Given the description of an element on the screen output the (x, y) to click on. 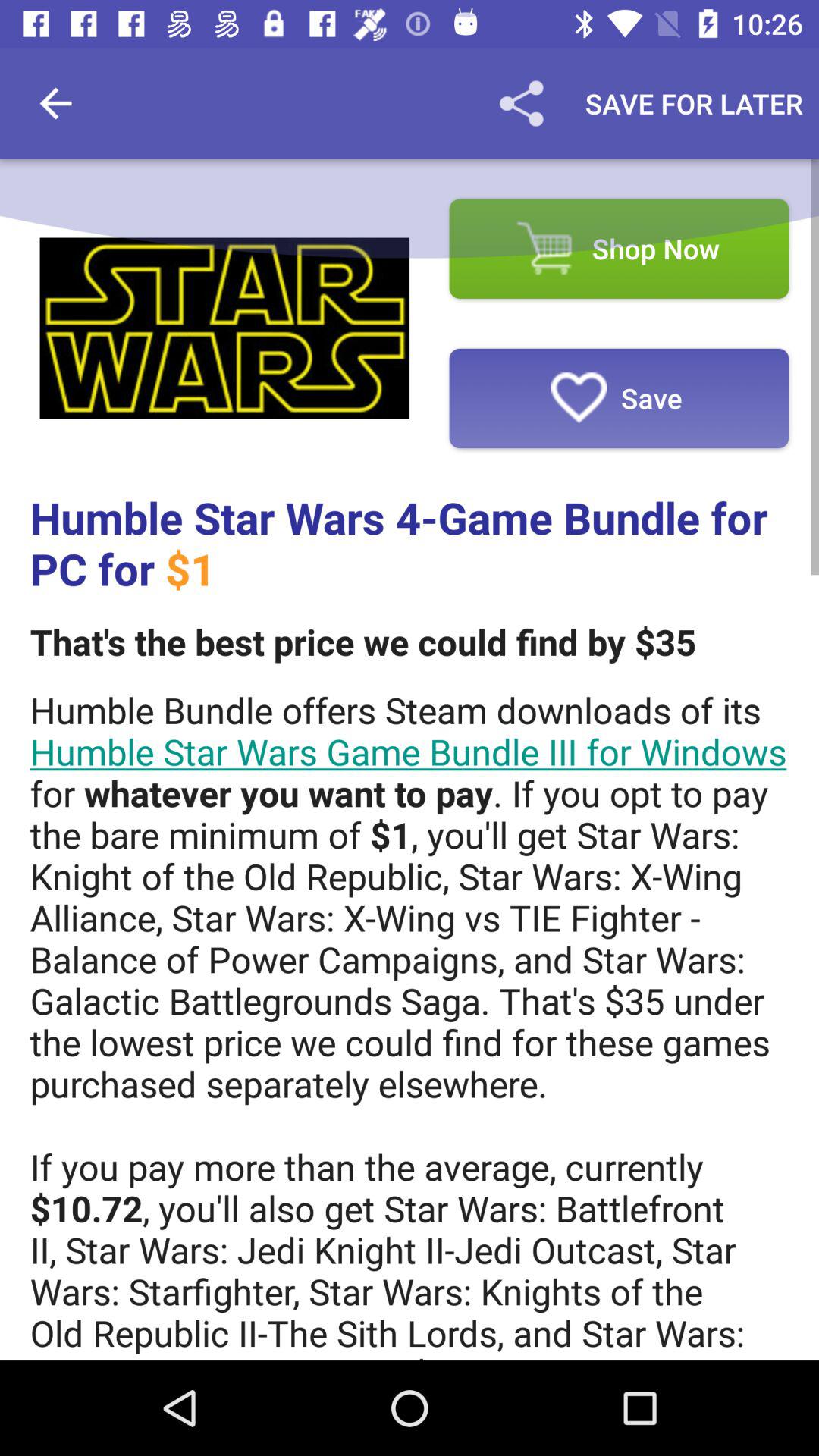
scroll to the save for later item (694, 103)
